Given the description of an element on the screen output the (x, y) to click on. 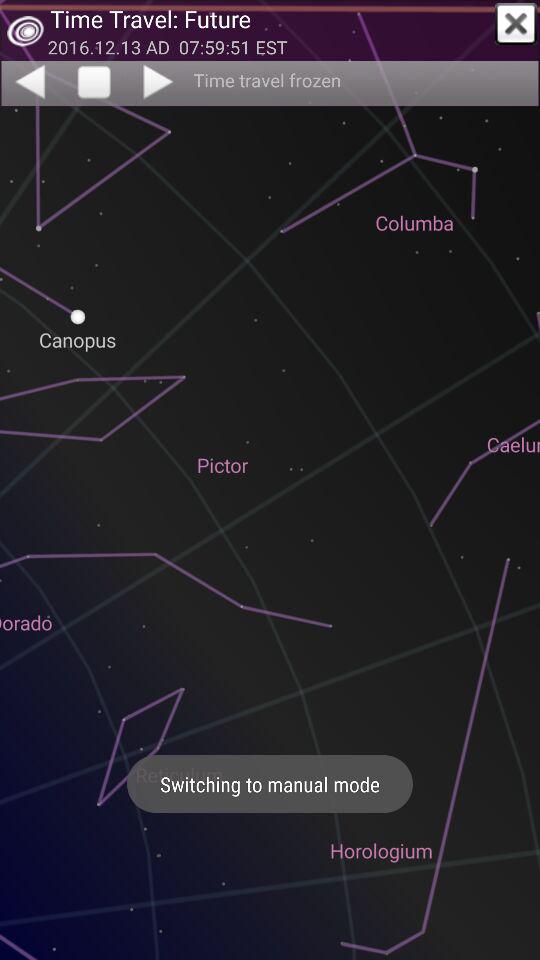
close screen (516, 24)
